Given the description of an element on the screen output the (x, y) to click on. 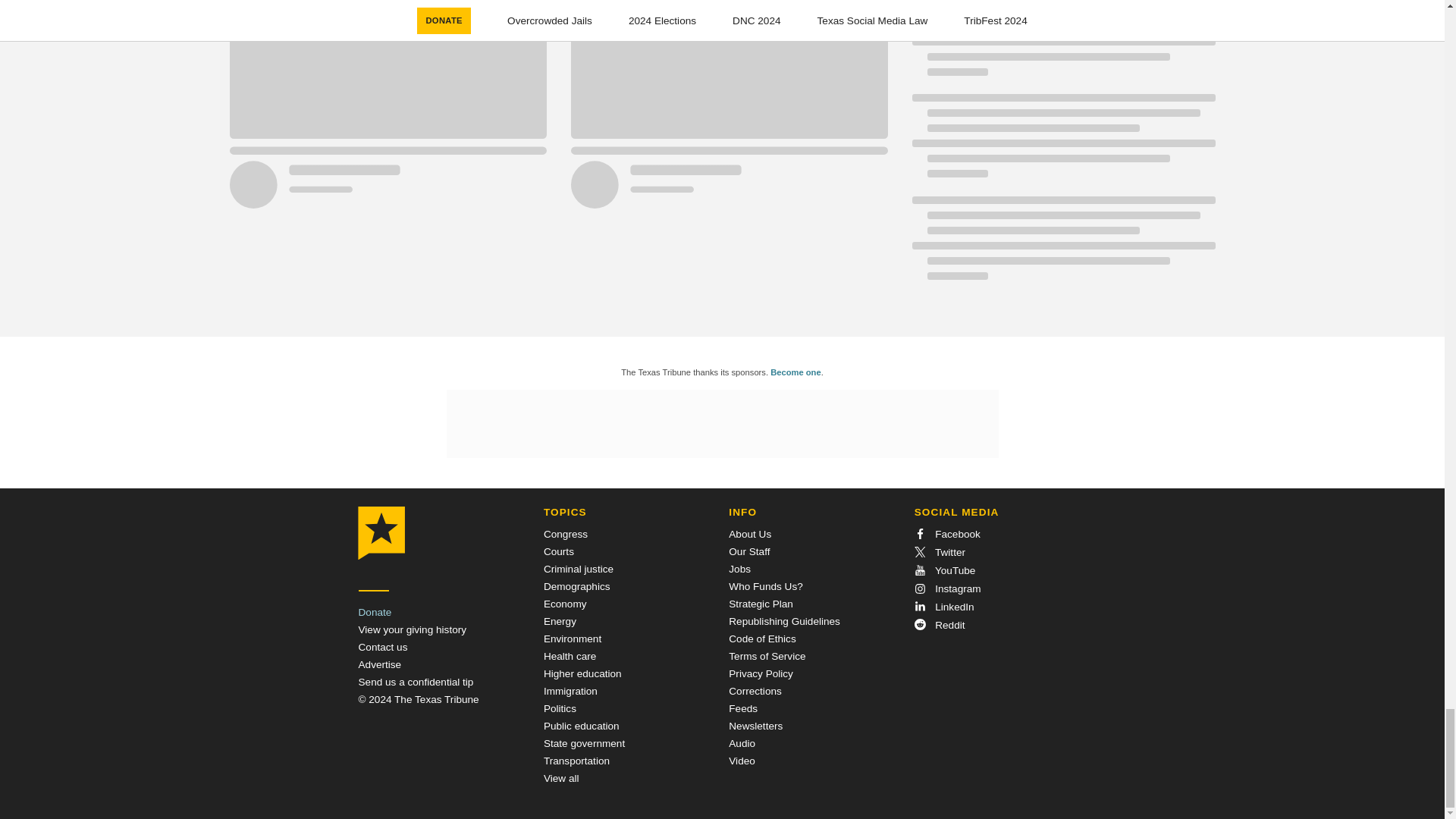
Republishing Guidelines (784, 621)
Code of Ethics (761, 638)
Newsletters (756, 726)
Advertise (379, 664)
Donate (374, 612)
Corrections (755, 690)
View your giving history (411, 629)
Terms of Service (767, 655)
About Us (750, 533)
Send a Tip (415, 681)
